Given the description of an element on the screen output the (x, y) to click on. 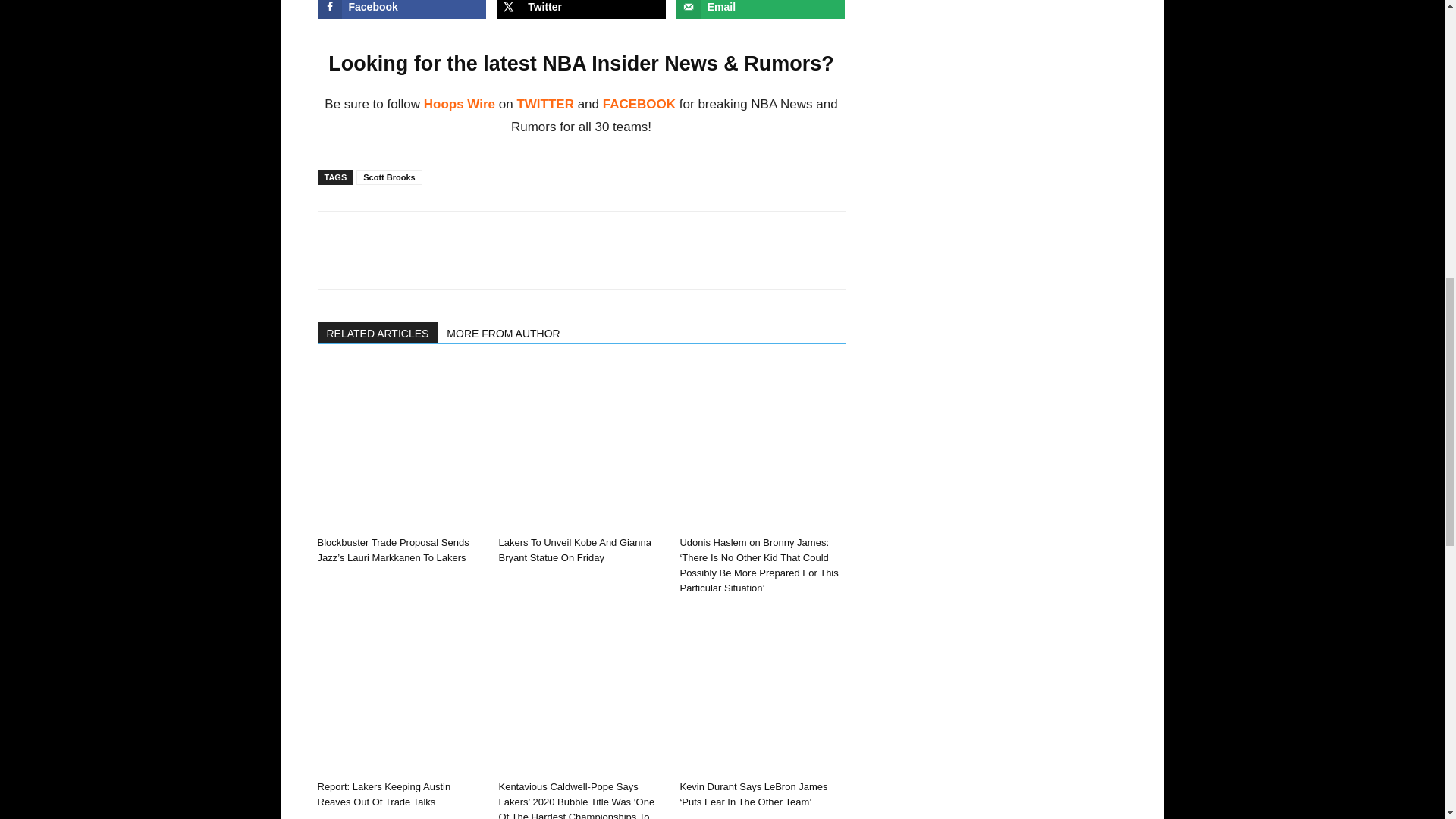
Send over email (761, 9)
Share on X (580, 9)
Share on Facebook (401, 9)
